Given the description of an element on the screen output the (x, y) to click on. 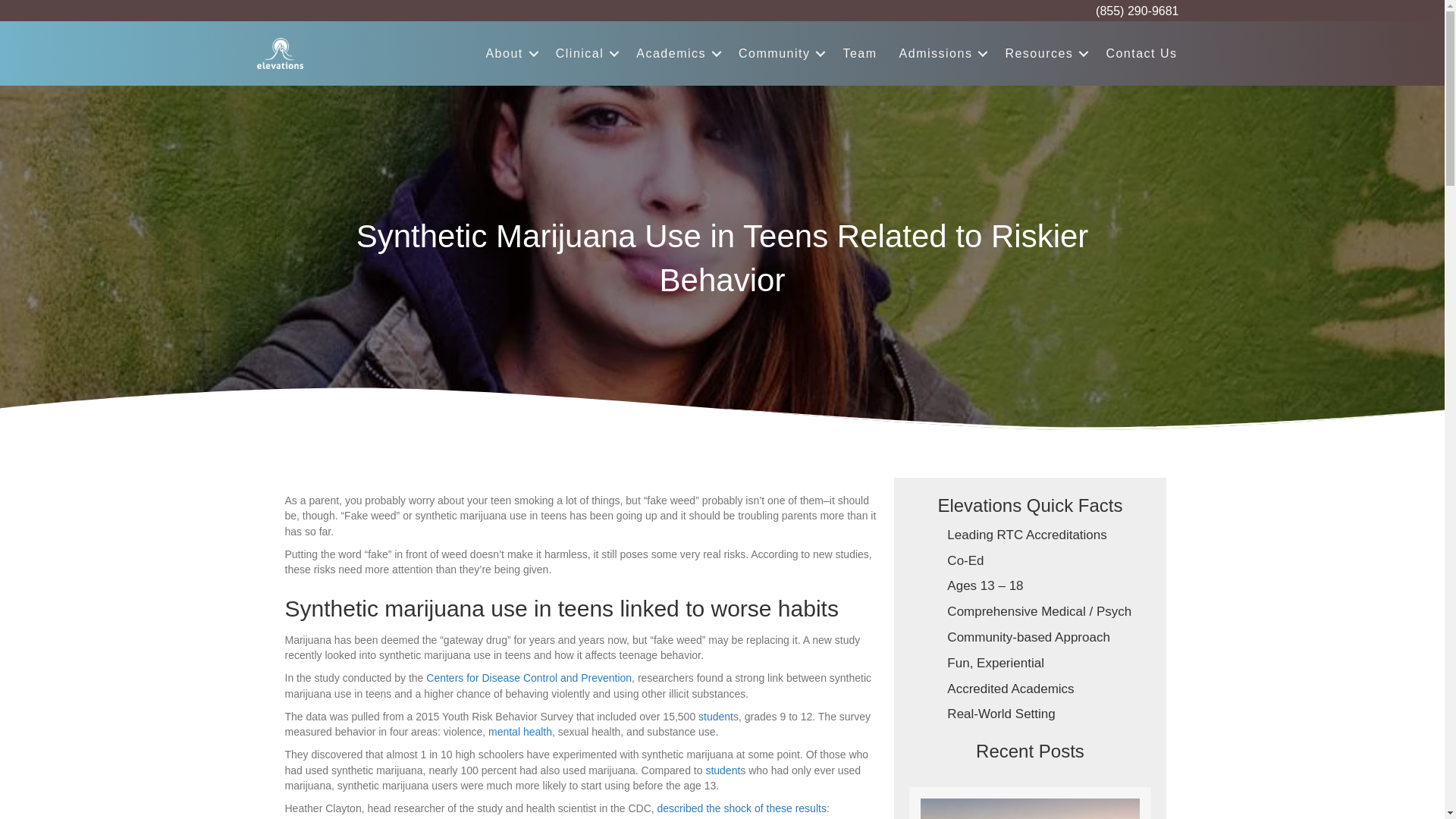
Clinical (585, 53)
Admissions (941, 53)
About (508, 53)
Academics (676, 53)
whitelogo (279, 52)
Resources (1044, 53)
Team (858, 53)
Community (779, 53)
